Given the description of an element on the screen output the (x, y) to click on. 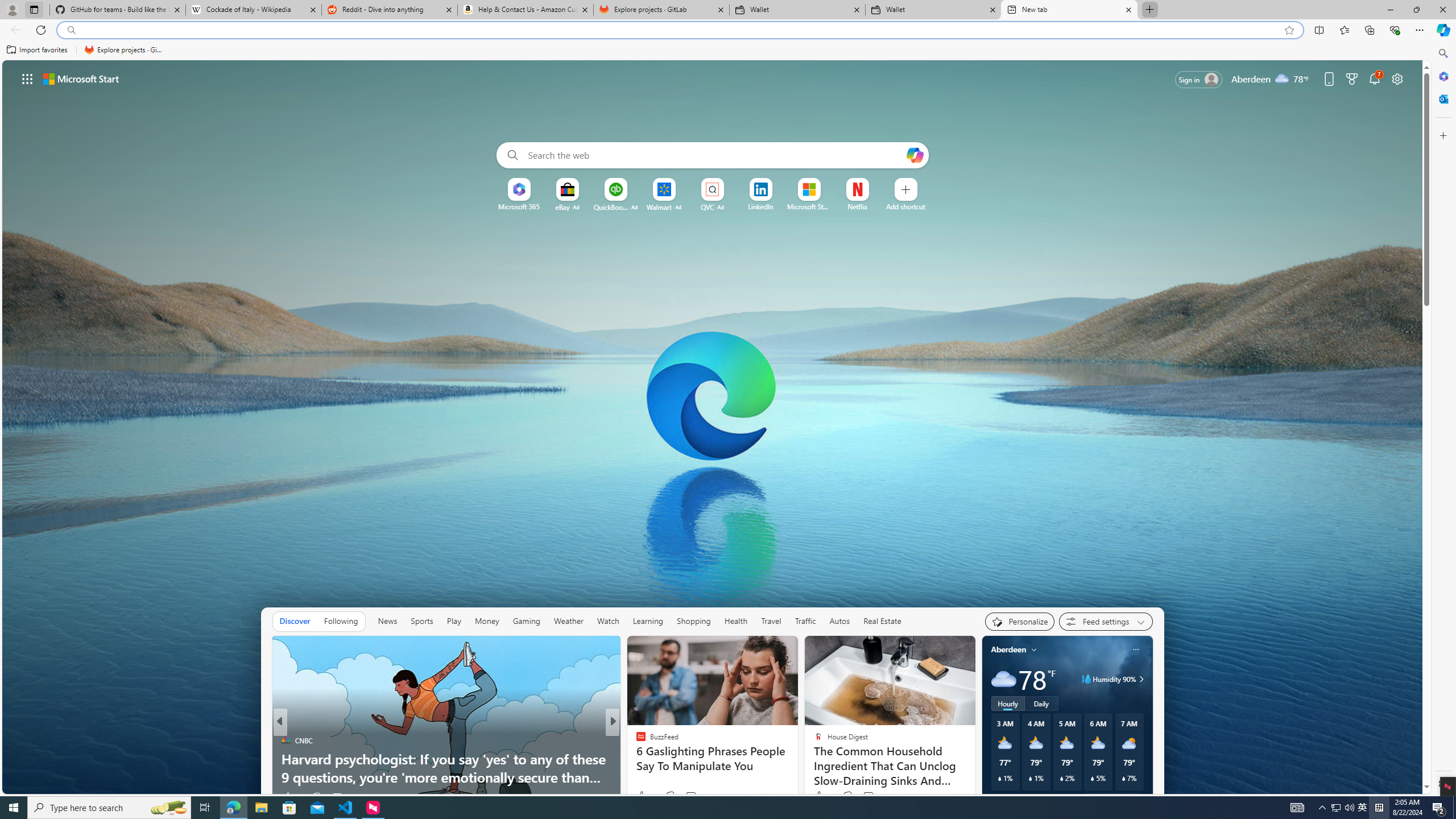
Microsoft rewards (1351, 78)
BuzzFeed (635, 740)
Netflix (857, 206)
View comments 274 Comment (694, 796)
View comments 15 Comment (693, 796)
FOX News (635, 740)
